Given the description of an element on the screen output the (x, y) to click on. 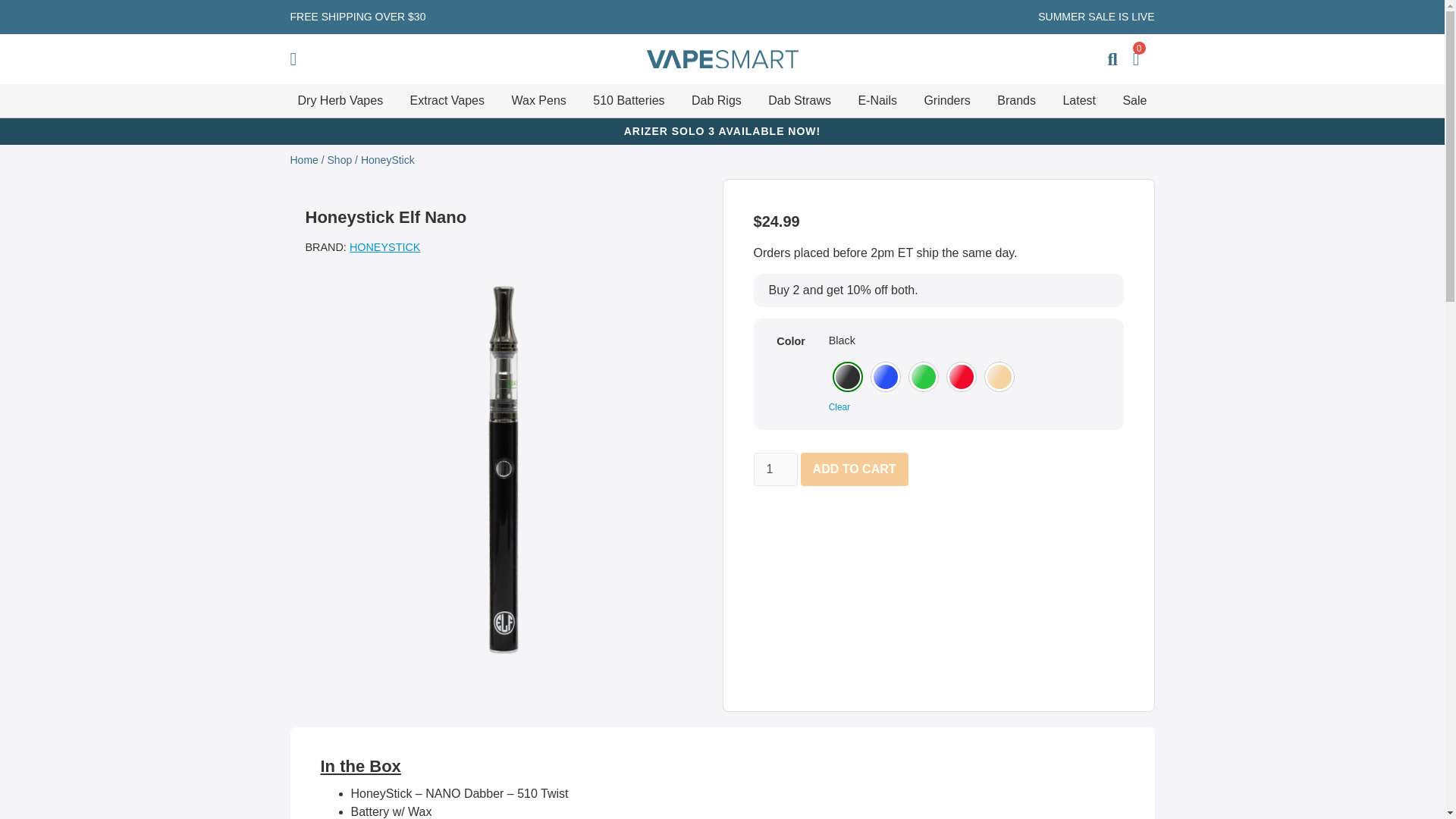
Blue (885, 376)
E-Nails (876, 100)
Green (923, 376)
Wax Pens (538, 100)
Dry Herb Vapes (339, 100)
Latest (1079, 100)
510 Batteries (627, 100)
Rose Gold (999, 376)
Red (961, 376)
Brands (1016, 100)
1 (775, 469)
Sale (1134, 100)
Extract Vapes (447, 100)
0 (1136, 58)
